Given the description of an element on the screen output the (x, y) to click on. 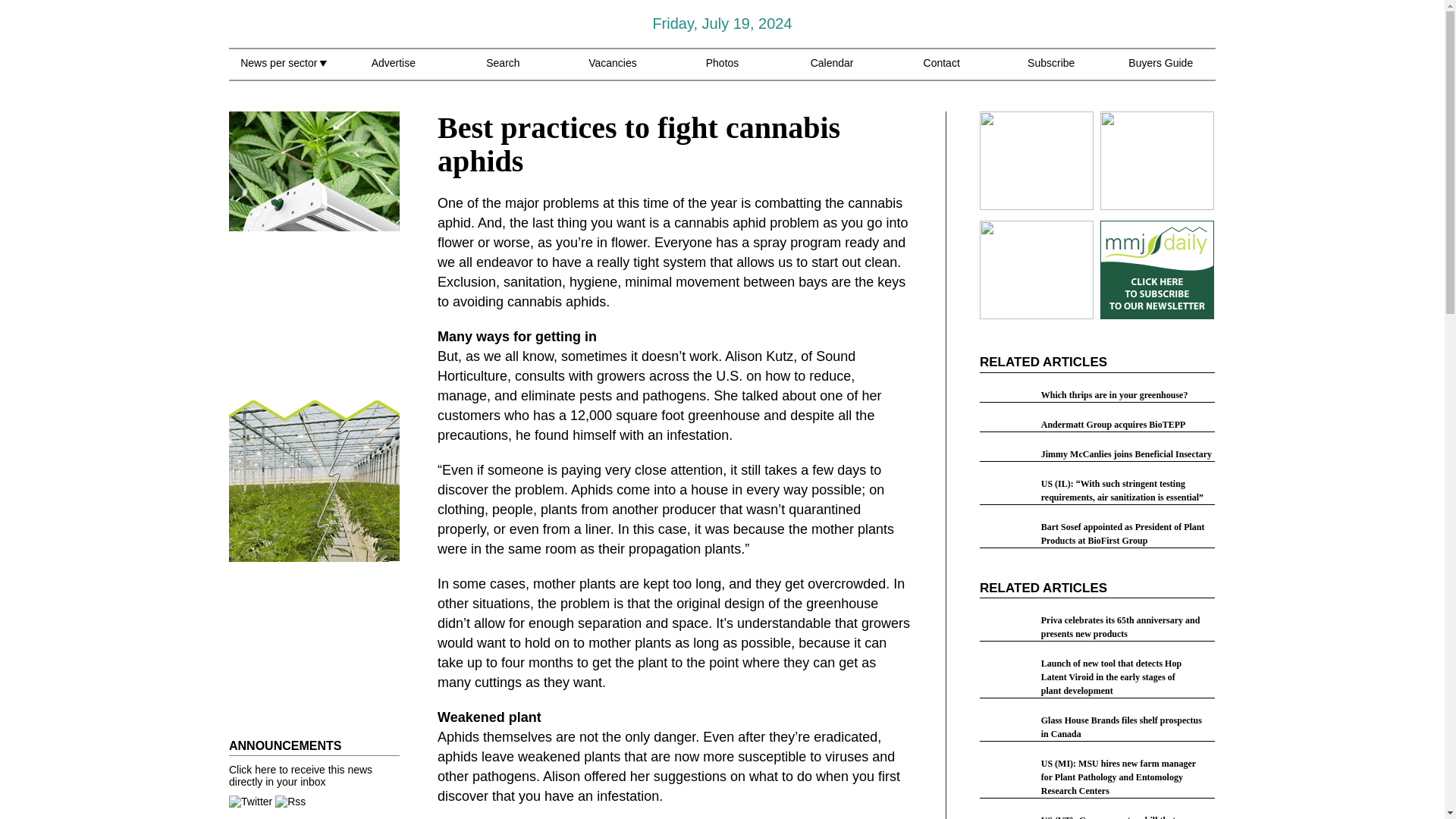
Calendar (831, 71)
Advertise (392, 71)
Search (502, 71)
Contact (941, 71)
Photos (722, 71)
Vacancies (612, 71)
News per sector (283, 71)
